Given the description of an element on the screen output the (x, y) to click on. 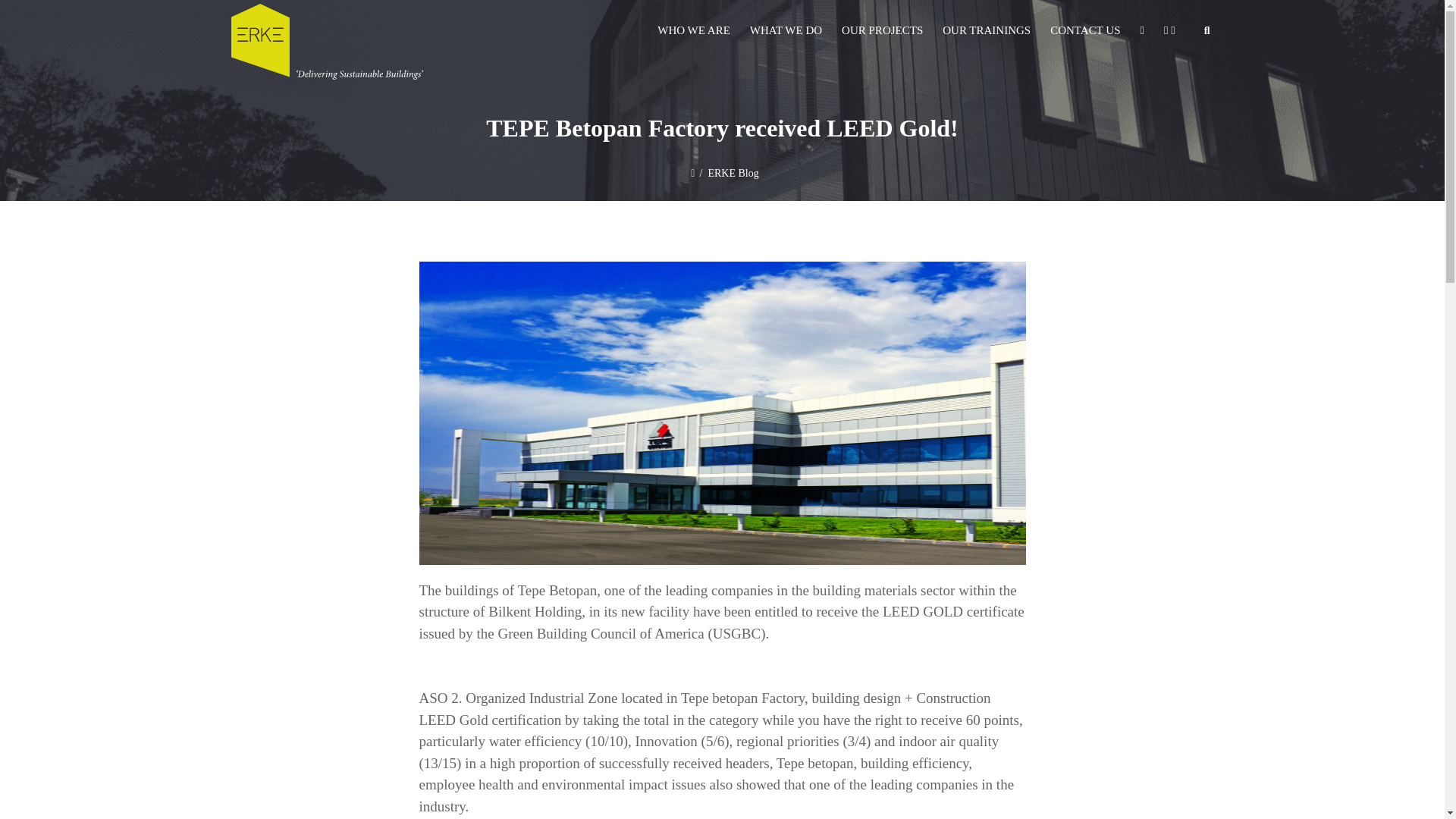
ERKE Blog (729, 173)
WHO WE ARE (693, 30)
OUR TRAININGS (987, 30)
OUR PROJECTS (882, 30)
WHAT WE DO (785, 30)
CONTACT US (1085, 30)
